Given the description of an element on the screen output the (x, y) to click on. 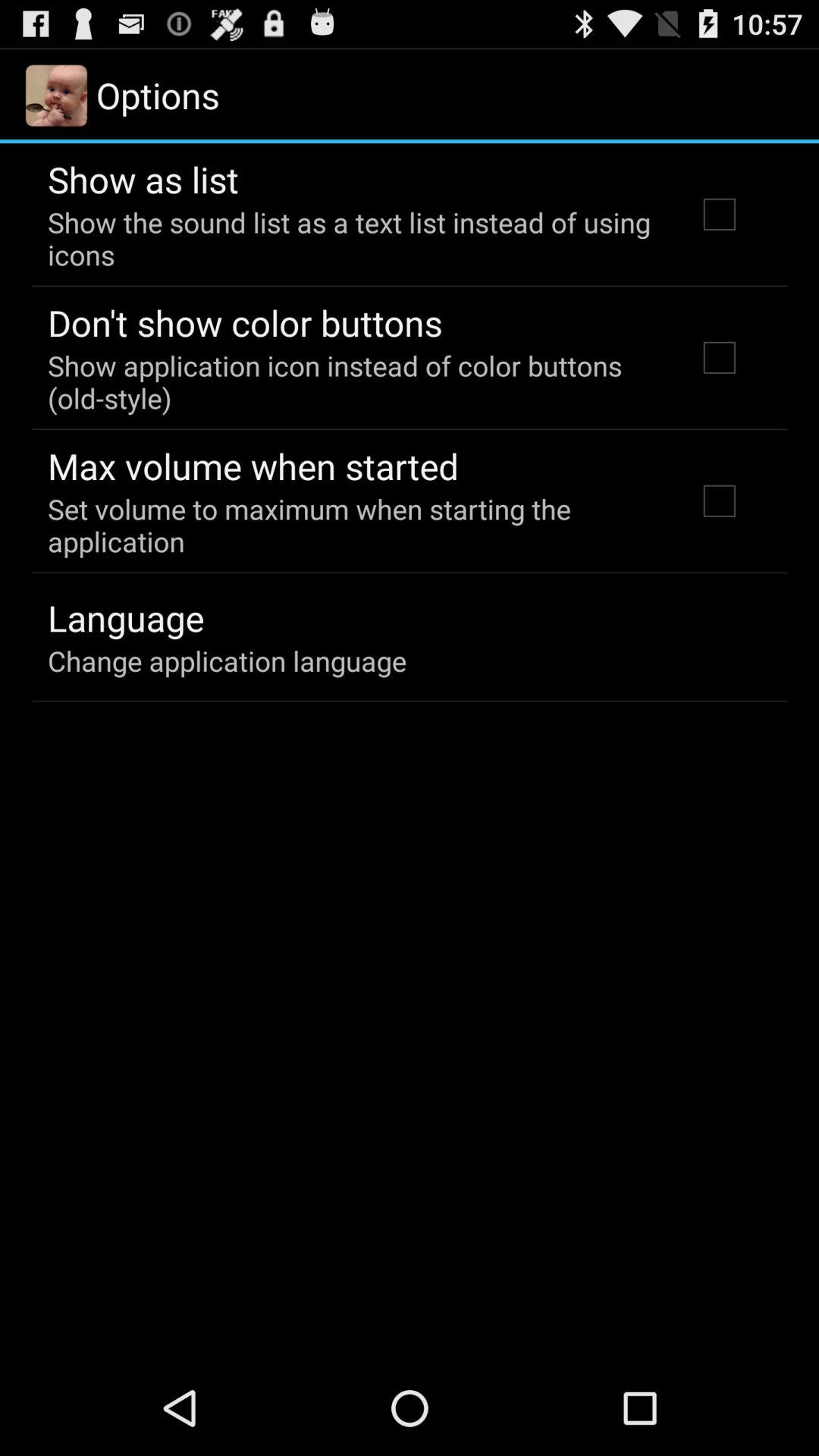
open the don t show app (244, 322)
